Given the description of an element on the screen output the (x, y) to click on. 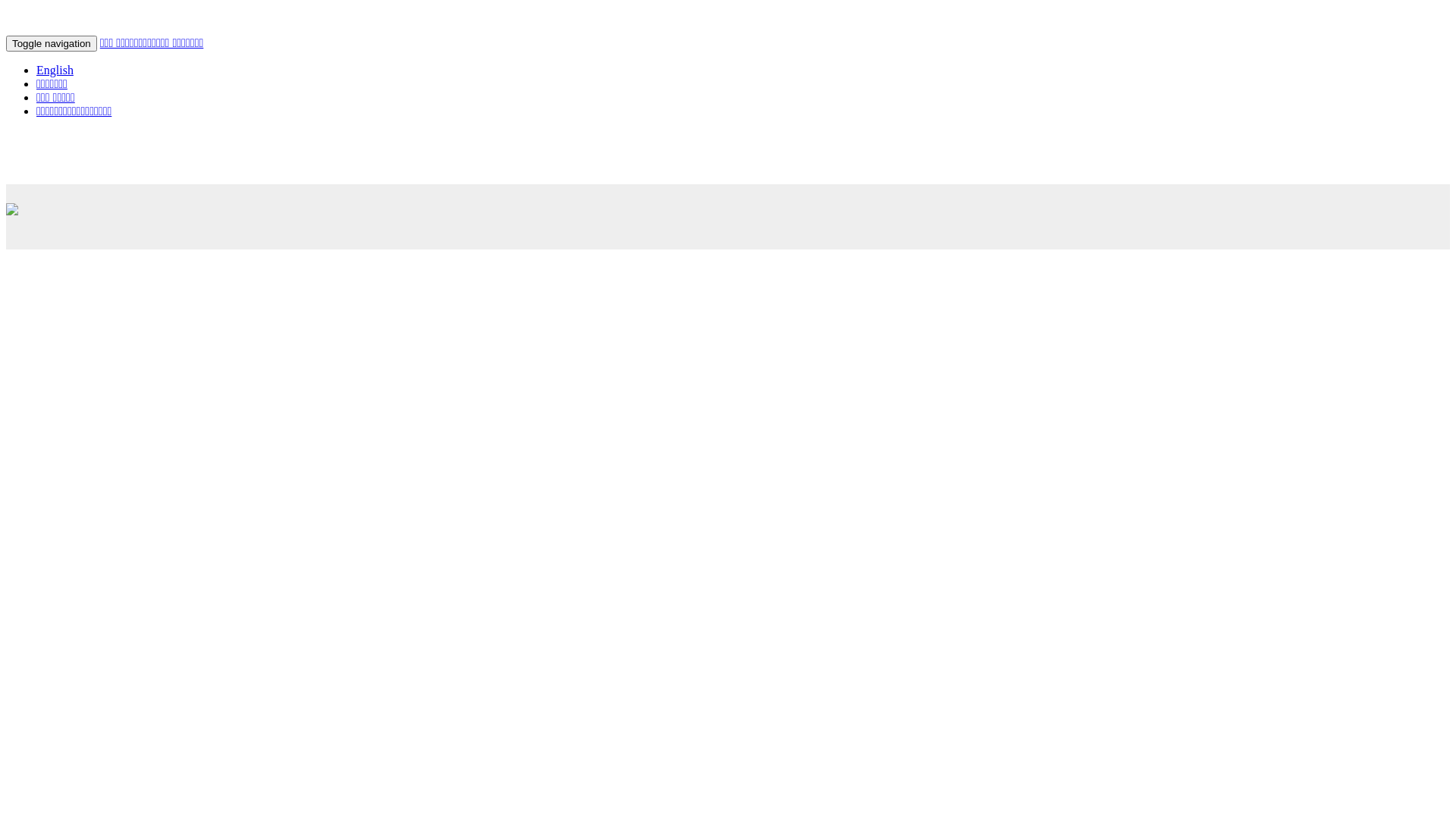
Toggle navigation Element type: text (51, 43)
English Element type: text (54, 69)
